Given the description of an element on the screen output the (x, y) to click on. 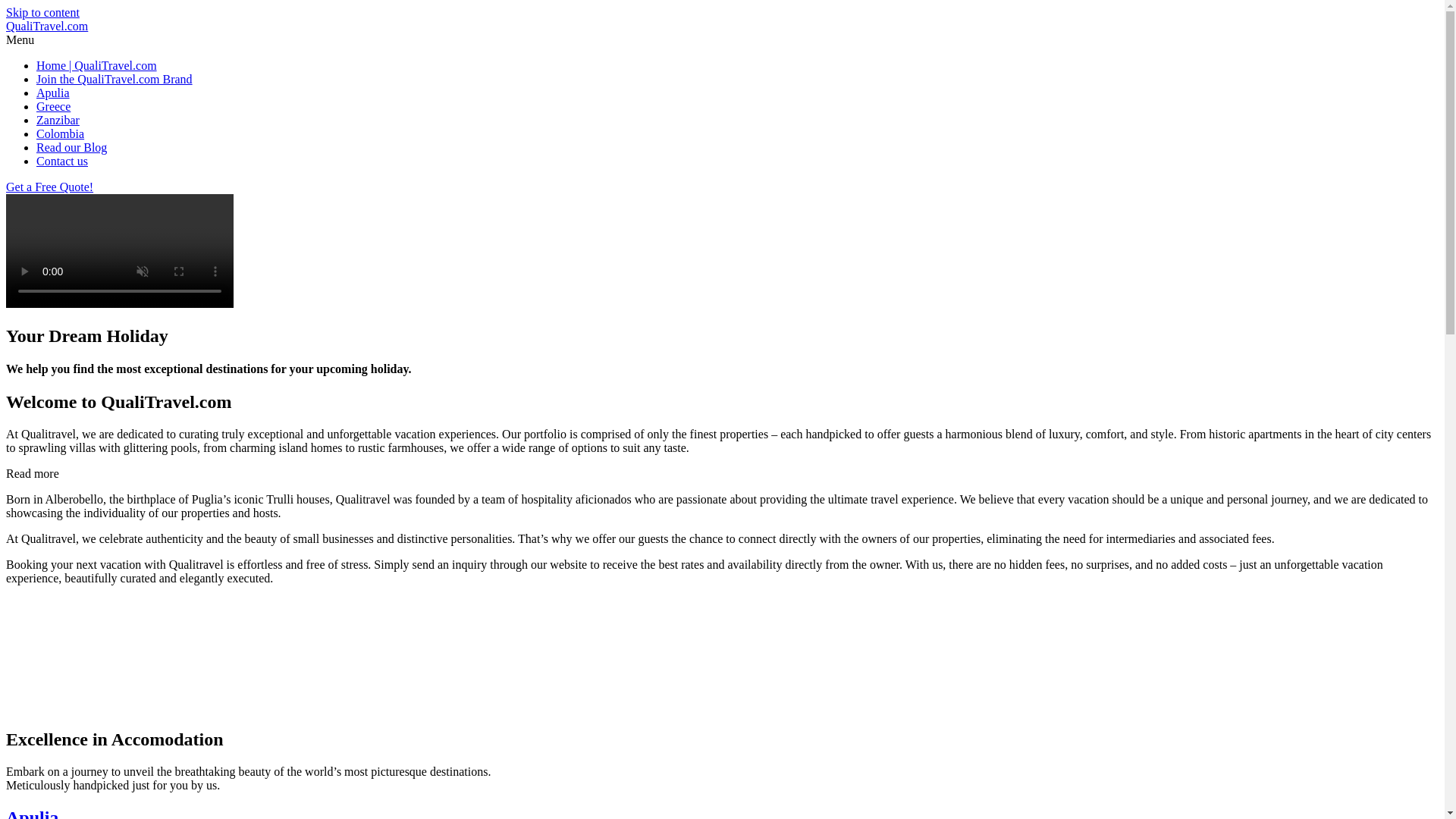
Read more (32, 472)
Get a Free Quote! (49, 186)
Apulia (52, 92)
Read our Blog (71, 146)
Skip to content (42, 11)
Colombia (60, 133)
Apulia (31, 813)
Contact us (61, 160)
Join the QualiTravel.com Brand (114, 78)
Zanzibar (58, 119)
Greece (52, 106)
QualiTravel.com (46, 25)
